Given the description of an element on the screen output the (x, y) to click on. 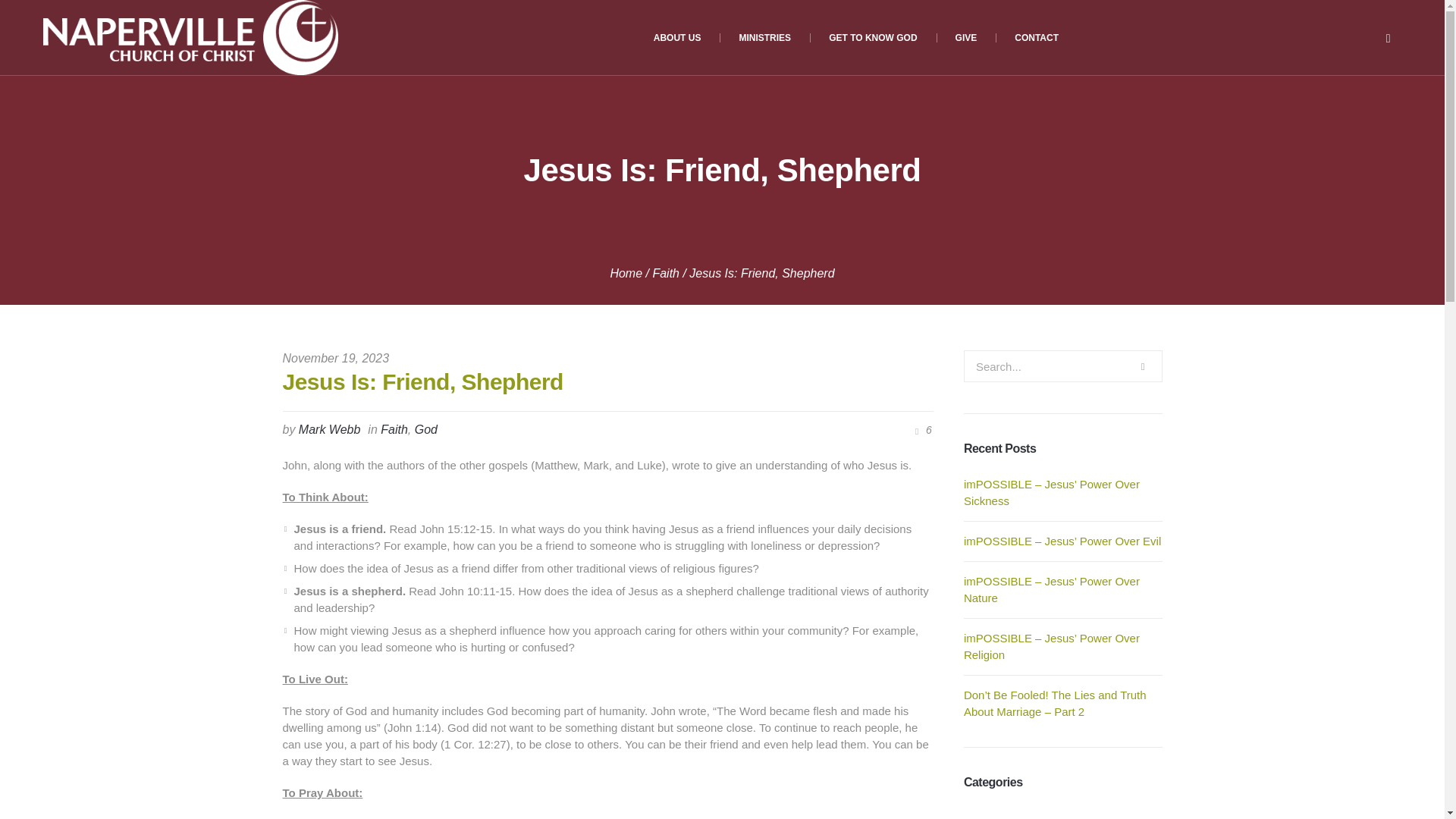
Faith (665, 273)
GET TO KNOW GOD (872, 37)
November 19, 2023 (335, 358)
CONTACT (1036, 37)
Home (626, 273)
Mark Webb (329, 429)
MINISTRIES (764, 37)
Faith (393, 429)
Posts by Mark Webb (329, 429)
God (426, 429)
